Given the description of an element on the screen output the (x, y) to click on. 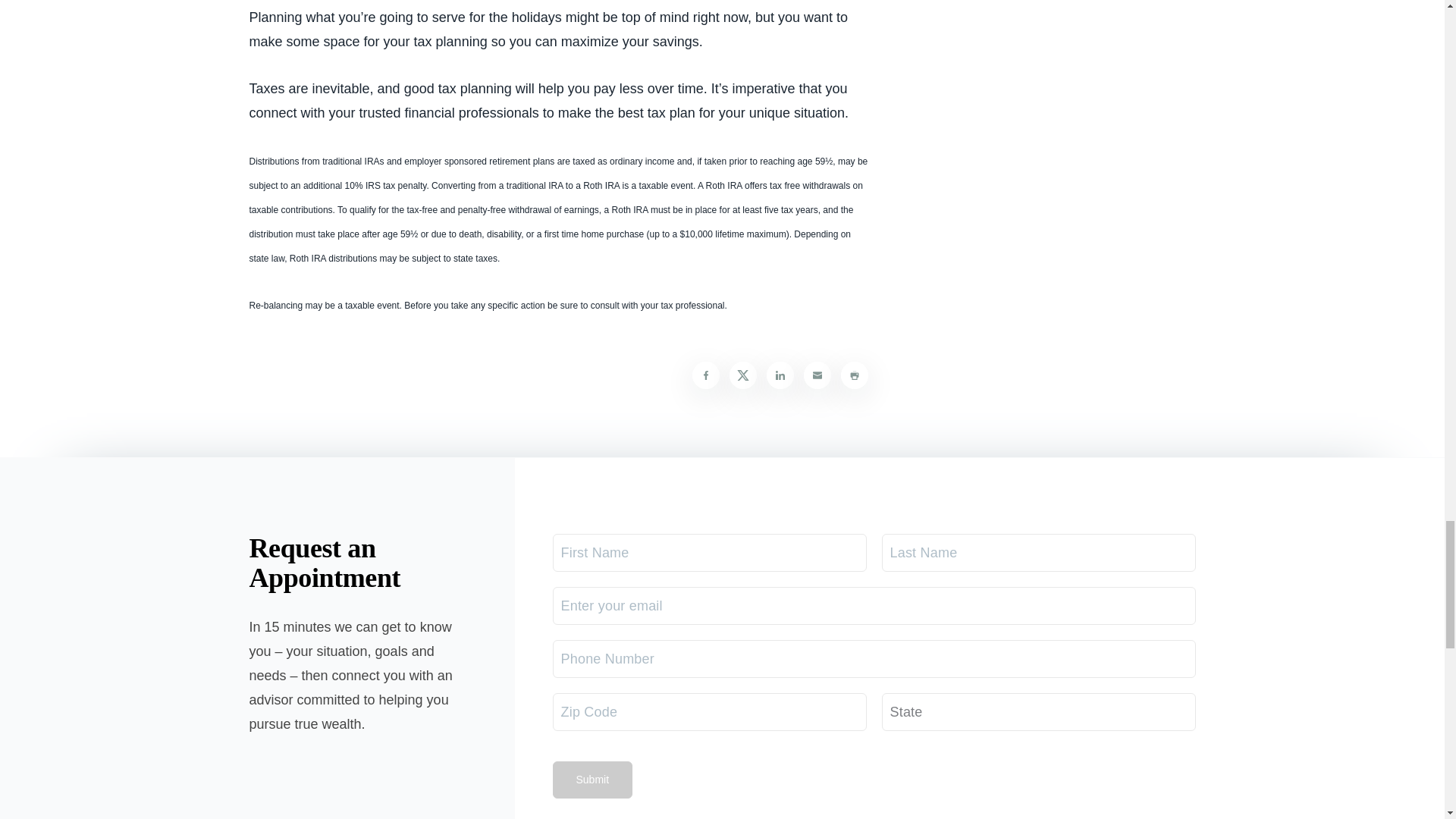
Submit (591, 779)
